Given the description of an element on the screen output the (x, y) to click on. 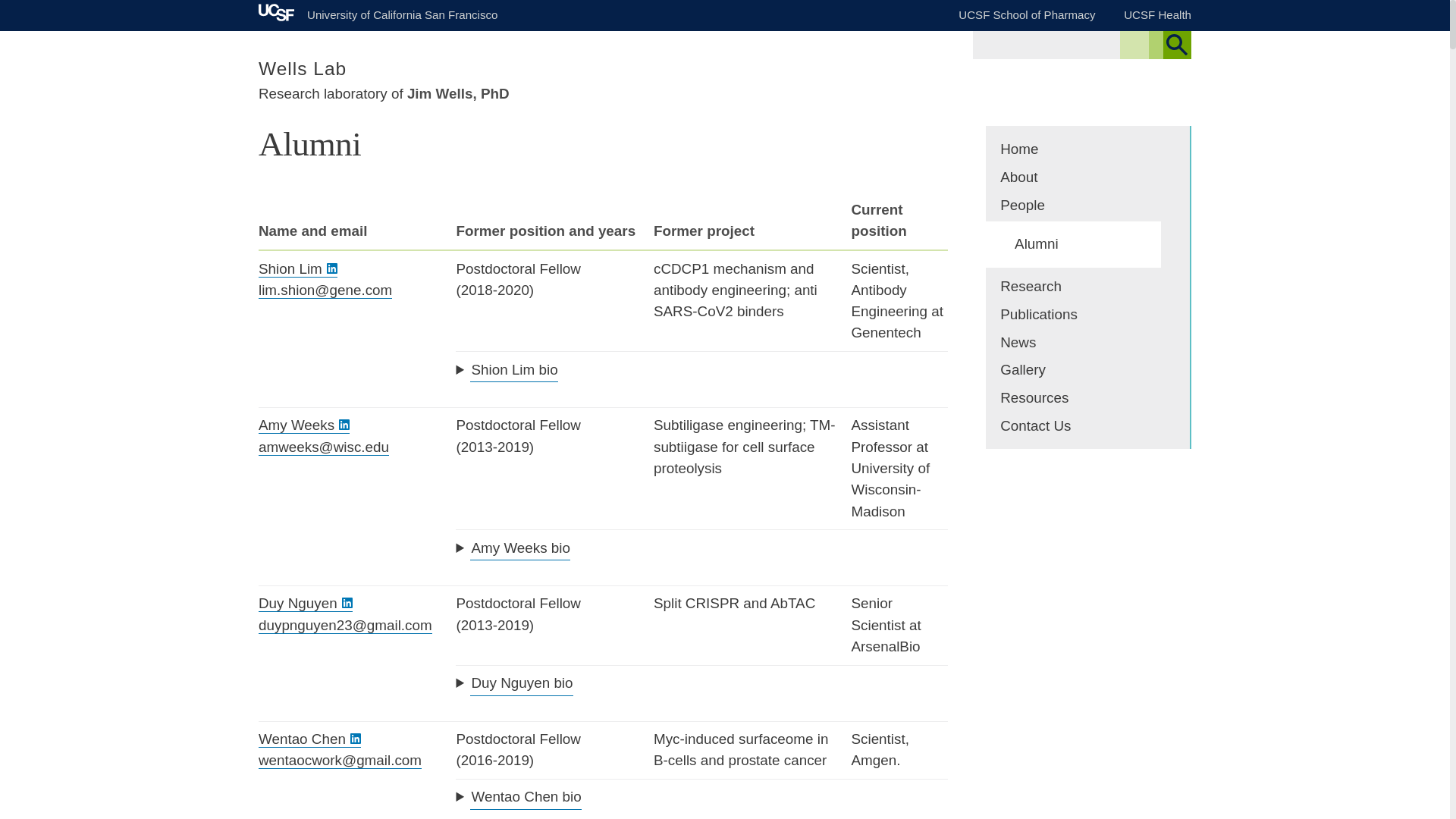
Shion Lim (298, 269)
UCSF Health (1157, 14)
Amy Weeks (304, 425)
UCSF School of Pharmacy (1026, 14)
Duy Nguyen (305, 603)
Wentao Chen (310, 739)
Wells Lab (302, 68)
Search (1176, 44)
University of California San Francisco (378, 12)
Enter the terms you wish to search for. (1050, 44)
Search (1176, 44)
